Given the description of an element on the screen output the (x, y) to click on. 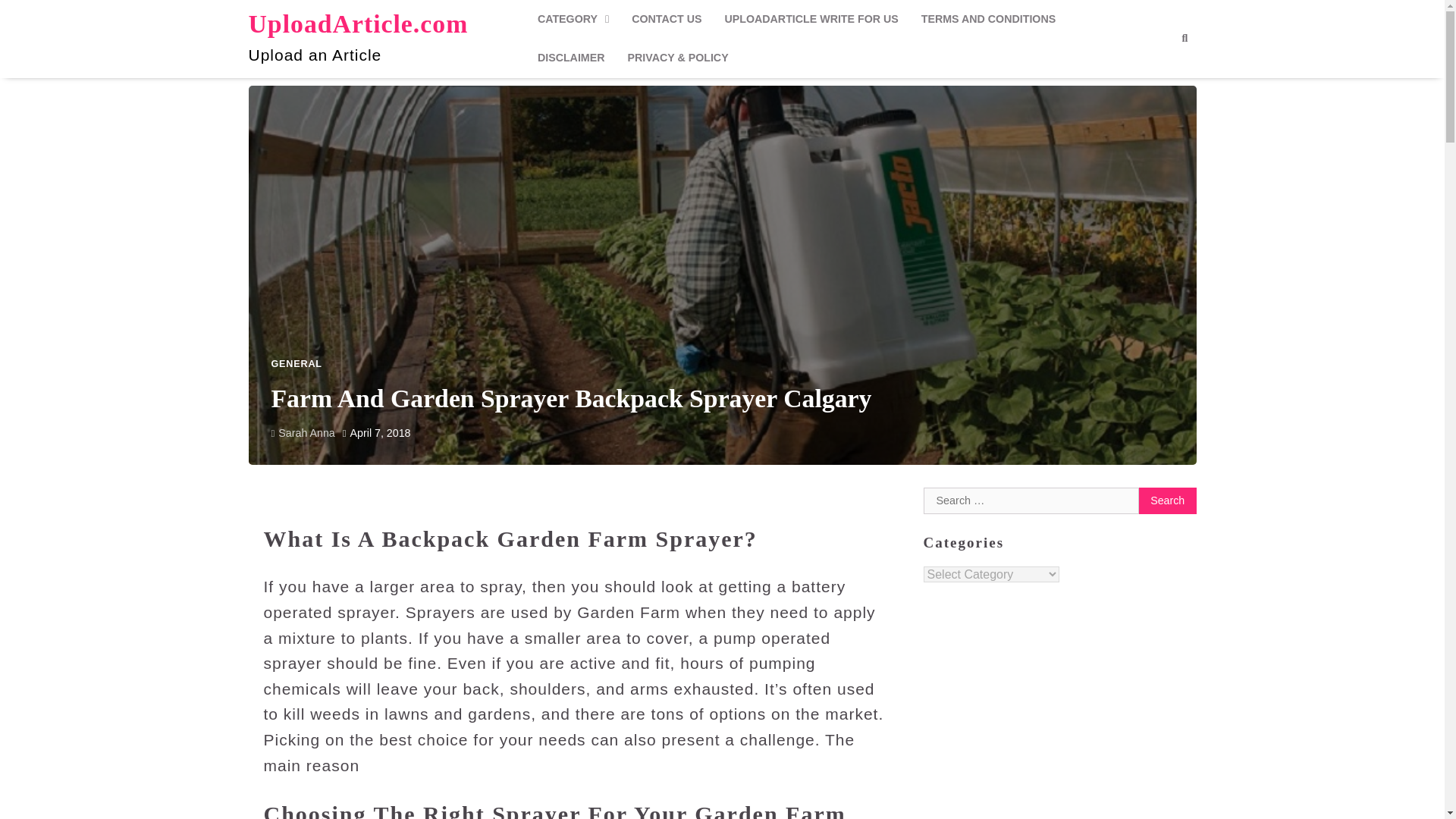
UploadArticle.com (358, 23)
TERMS AND CONDITIONS (988, 19)
GENERAL (295, 363)
Search (1167, 501)
Search (1184, 38)
Search (1167, 501)
Sarah Anna (302, 432)
DISCLAIMER (570, 57)
CATEGORY (572, 19)
Search (1157, 74)
